Given the description of an element on the screen output the (x, y) to click on. 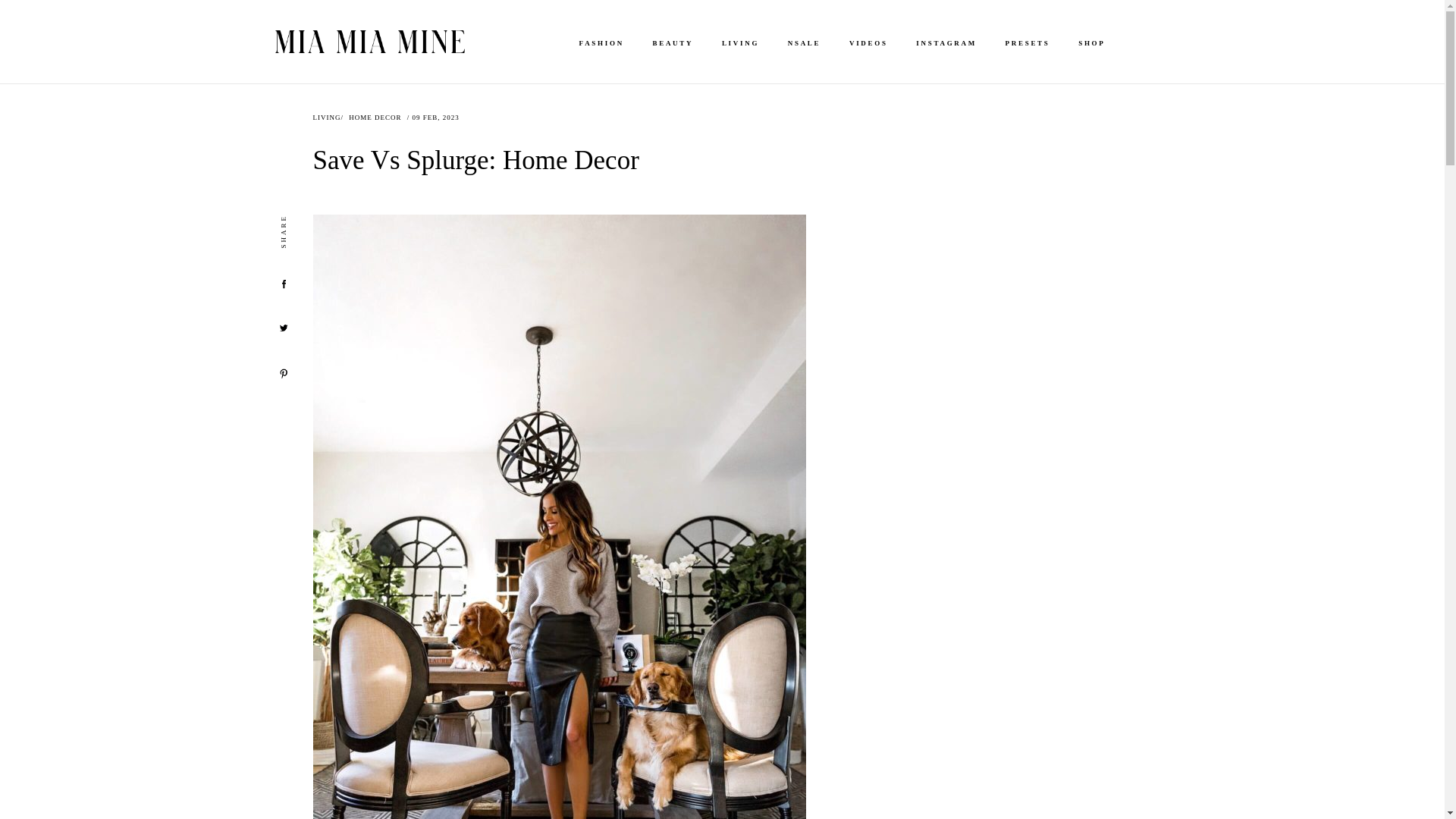
LIVING (740, 42)
VIDEOS (868, 42)
BEAUTY (673, 42)
NSALE (804, 42)
INSTAGRAM (946, 42)
MIAMIAMINE (369, 41)
FASHION (600, 42)
